Given the description of an element on the screen output the (x, y) to click on. 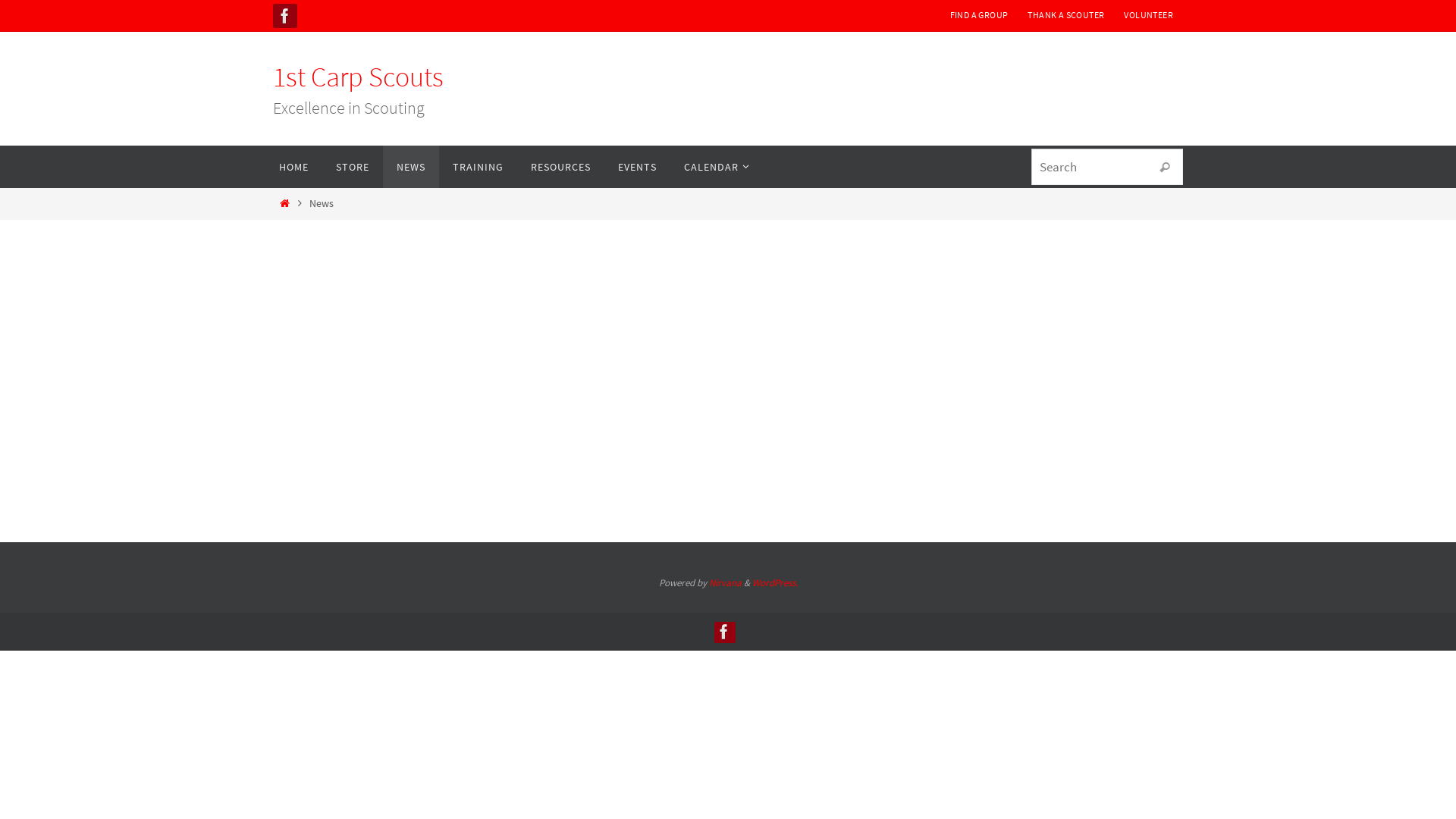
NEWS Element type: text (410, 166)
EVENTS Element type: text (637, 166)
Home Element type: text (283, 203)
1st Carp Scouting on Facebook Element type: hover (285, 15)
THANK A SCOUTER Element type: text (1065, 15)
STORE Element type: text (352, 166)
Search Element type: text (1164, 167)
VOLUNTEER Element type: text (1148, 15)
WordPress. Element type: text (774, 582)
1st Carp Scouting on Facebook Element type: hover (724, 631)
CALENDAR Element type: text (713, 166)
1st Carp Scouts Element type: text (358, 77)
HOME Element type: text (293, 166)
FIND A GROUP Element type: text (979, 15)
Nirvana Element type: text (724, 582)
RESOURCES Element type: text (560, 166)
TRAINING Element type: text (478, 166)
